Given the description of an element on the screen output the (x, y) to click on. 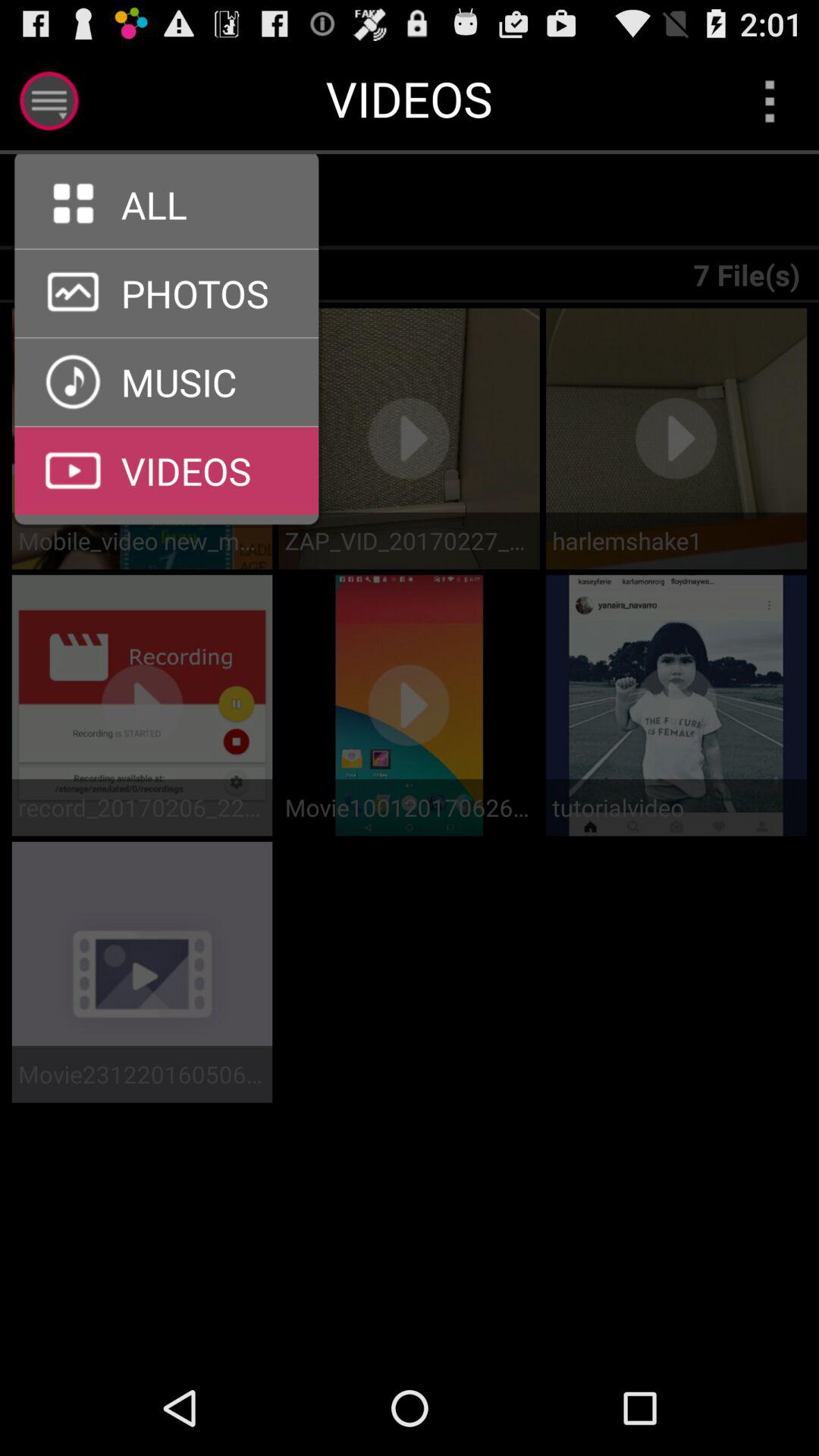
shows all button (176, 201)
